Given the description of an element on the screen output the (x, y) to click on. 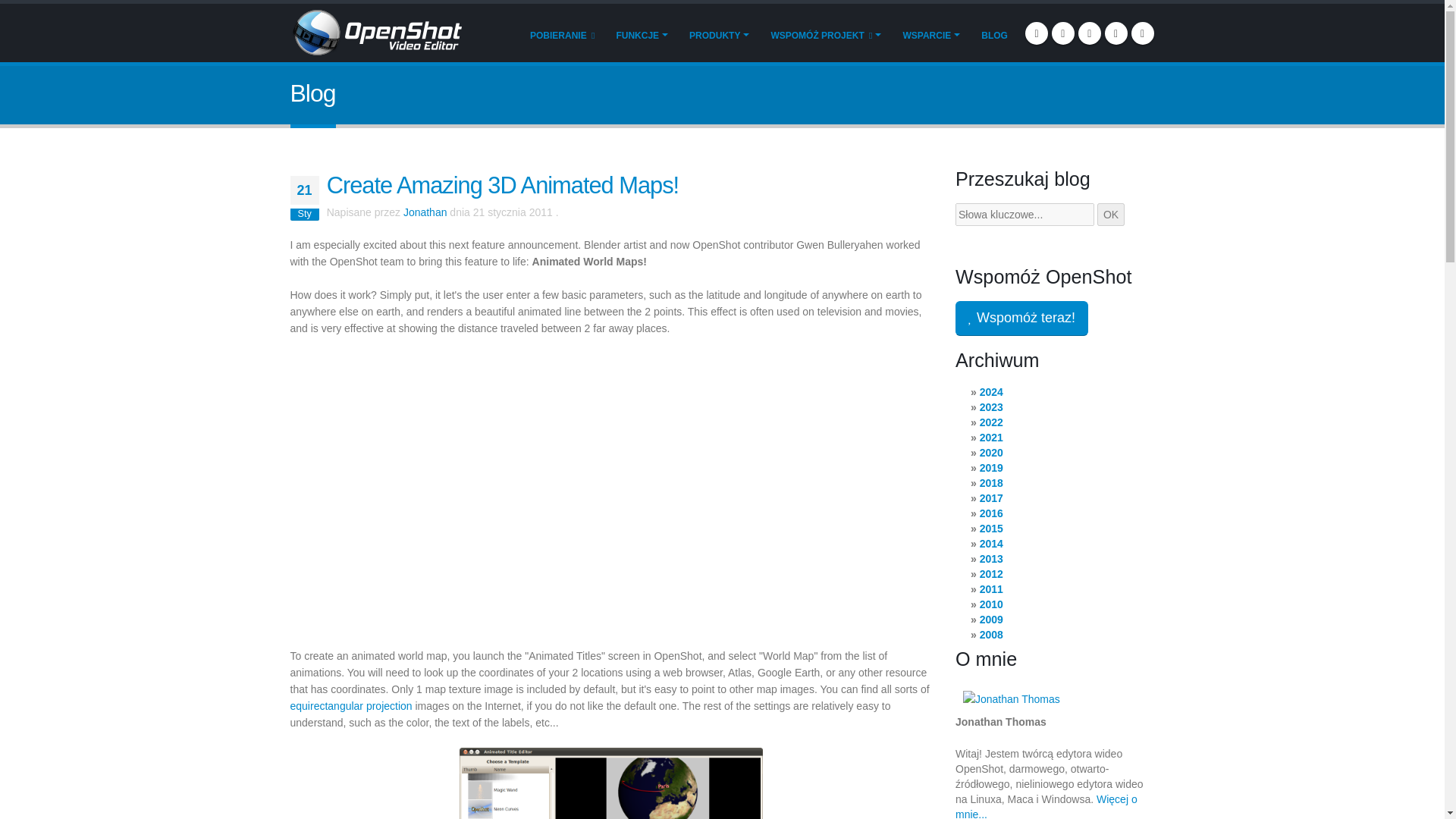
OK (1110, 214)
FUNKCJE (641, 34)
POBIERANIE (561, 34)
